Given the description of an element on the screen output the (x, y) to click on. 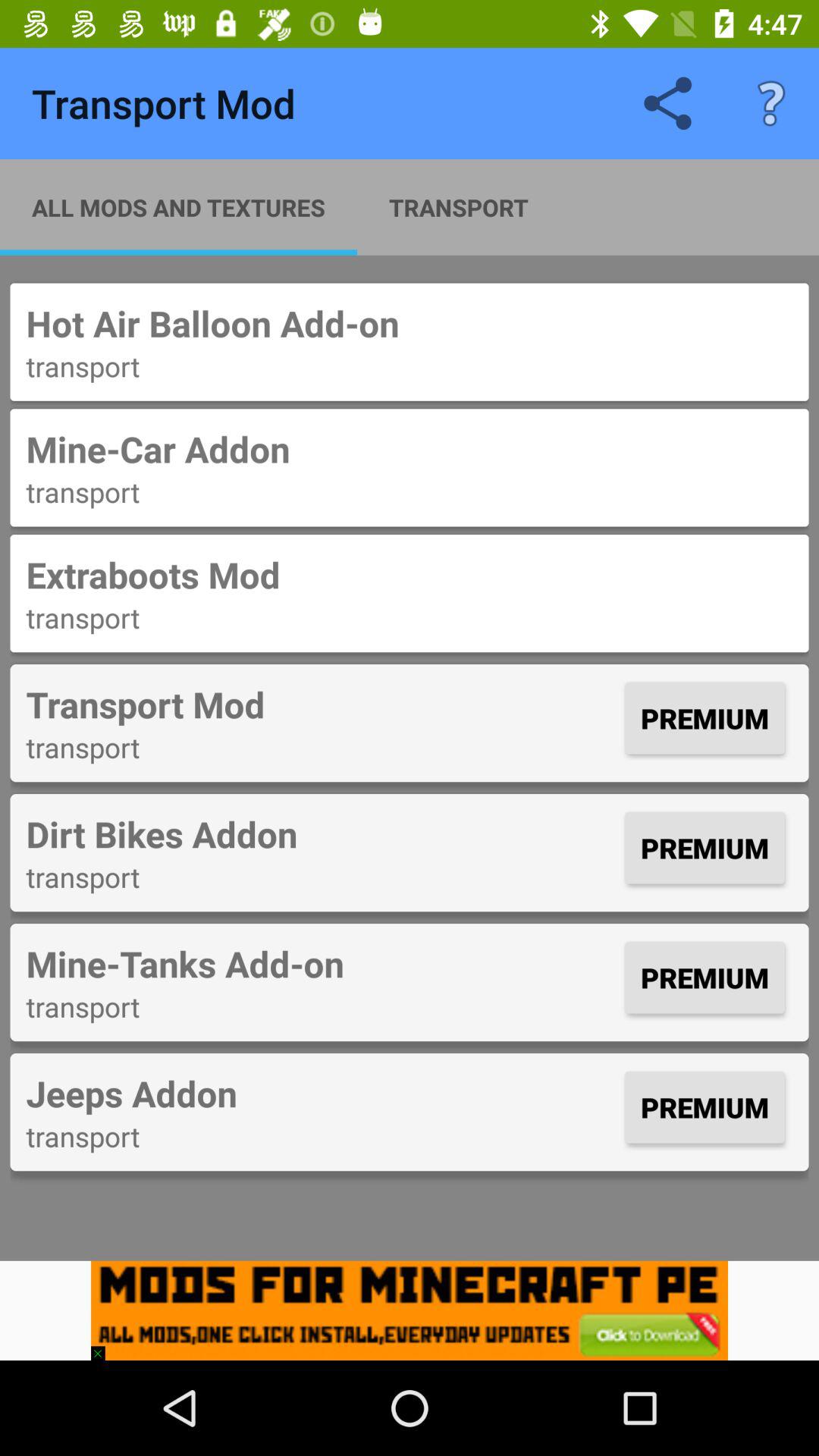
press icon to the left of premium (321, 833)
